Given the description of an element on the screen output the (x, y) to click on. 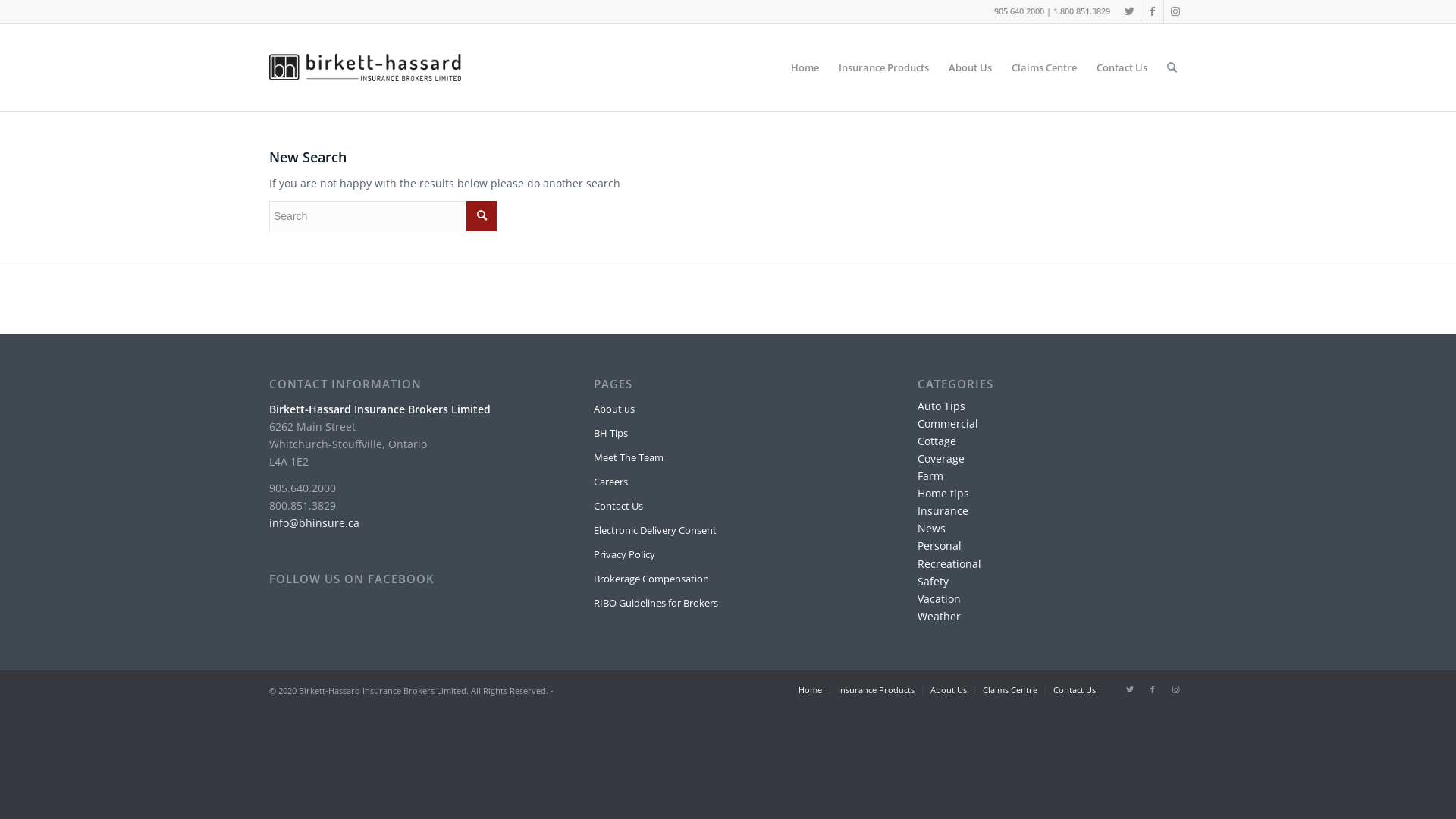
Weather Element type: text (938, 615)
Auto Tips Element type: text (941, 405)
About us Element type: text (727, 409)
Contact Us Element type: text (1121, 67)
RIBO Guidelines for Brokers Element type: text (727, 603)
Contact Us Element type: text (727, 506)
Contact Us Element type: text (1074, 689)
Brokerage Compensation Element type: text (727, 579)
Instagram Element type: hover (1175, 688)
info@bhinsure.ca Element type: text (314, 522)
Home tips Element type: text (943, 493)
Twitter Element type: hover (1129, 688)
bhinsure-logo Element type: hover (365, 67)
Safety Element type: text (932, 581)
Insurance Element type: text (942, 510)
Recreational Element type: text (949, 563)
Coverage Element type: text (940, 458)
BH Tips Element type: text (727, 433)
Commercial Element type: text (947, 423)
Insurance Products Element type: text (883, 67)
Claims Centre Element type: text (1009, 689)
Insurance Products Element type: text (875, 689)
Personal Element type: text (939, 545)
Vacation Element type: text (938, 598)
News Element type: text (931, 527)
Twitter Element type: hover (1129, 11)
Home Element type: text (804, 67)
About Us Element type: text (948, 689)
Cottage Element type: text (936, 440)
Facebook Element type: hover (1152, 11)
Privacy Policy Element type: text (727, 554)
Careers Element type: text (727, 482)
Farm Element type: text (930, 475)
Instagram Element type: hover (1175, 11)
Facebook Element type: hover (1152, 688)
Meet The Team Element type: text (727, 457)
About Us Element type: text (969, 67)
Claims Centre Element type: text (1043, 67)
Electronic Delivery Consent Element type: text (727, 530)
Home Element type: text (810, 689)
